Given the description of an element on the screen output the (x, y) to click on. 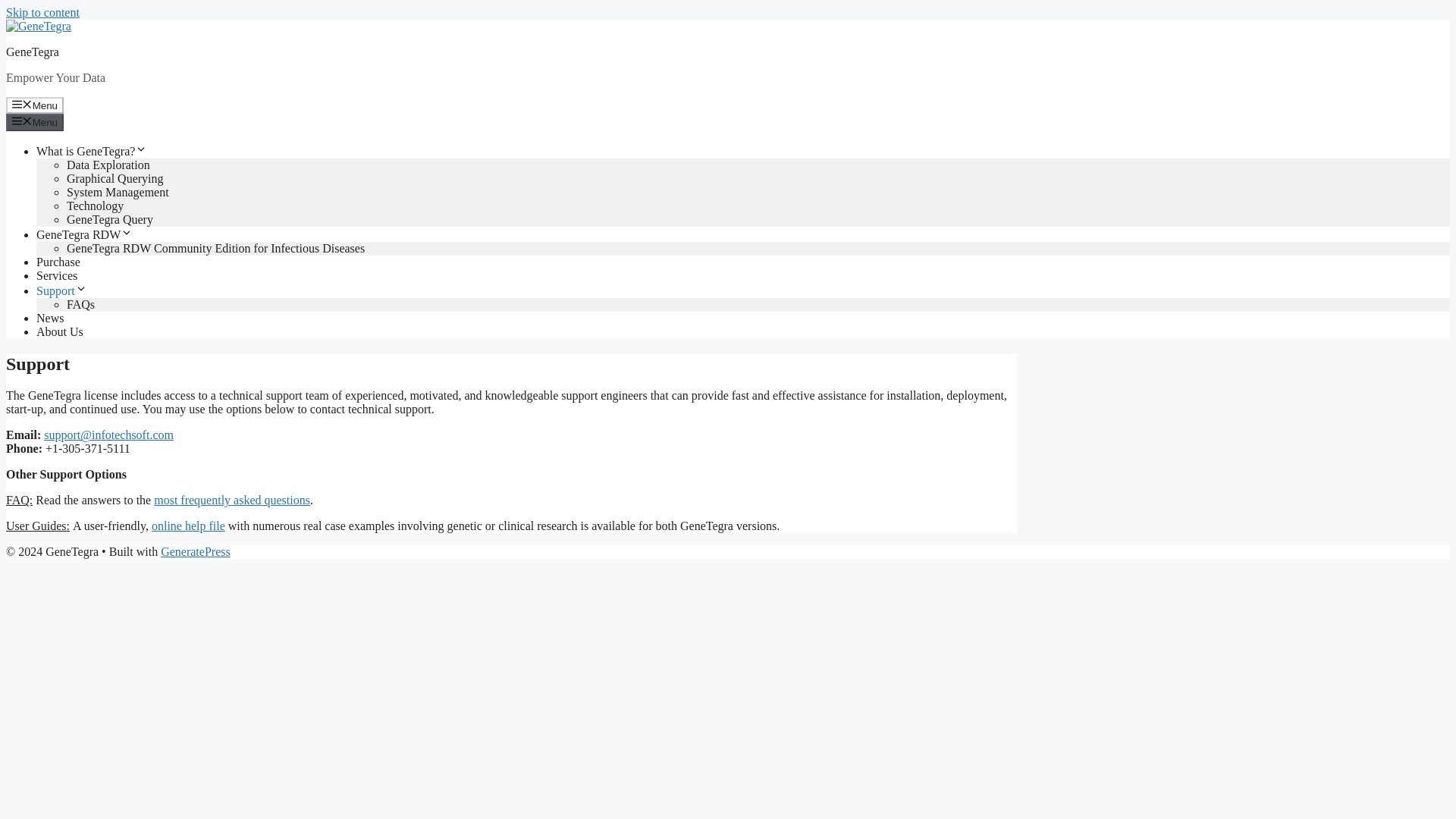
About Us (59, 331)
GeneTegra RDW Community Edition for Infectious Diseases (215, 247)
Skip to content (42, 11)
What is GeneTegra? (91, 151)
Menu (34, 121)
Graphical Querying (114, 178)
online help file (188, 525)
News (50, 318)
GeneTegra RDW (84, 234)
GeneTegra (32, 51)
